Given the description of an element on the screen output the (x, y) to click on. 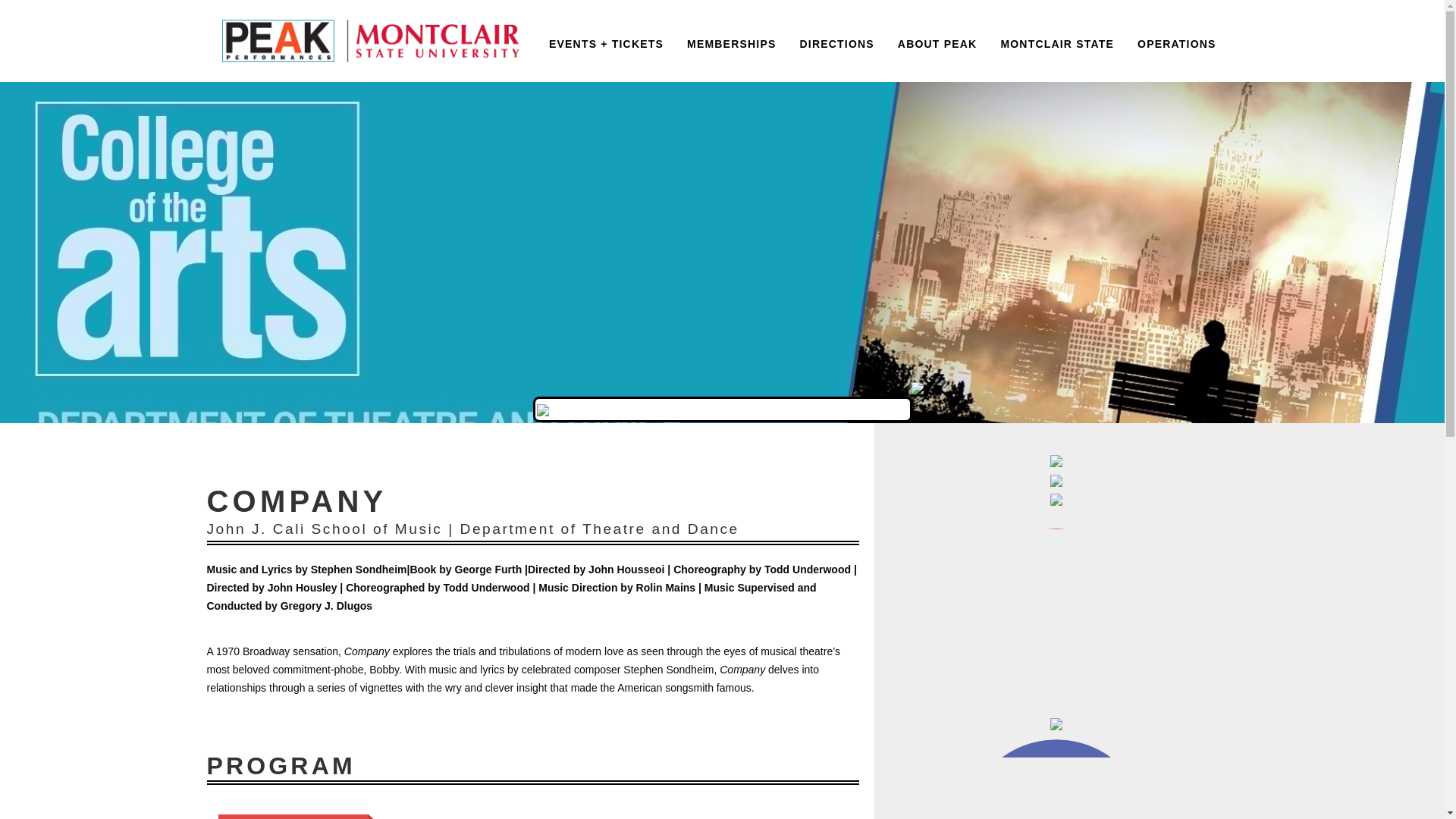
Montclair State (1056, 40)
About PEAK (937, 40)
DIRECTIONS (836, 40)
Memberships (731, 40)
Directions (836, 40)
MEMBERSHIPS (731, 40)
ABOUT PEAK (937, 40)
MONTCLAIR STATE (1056, 40)
OPERATIONS (1176, 40)
